Given the description of an element on the screen output the (x, y) to click on. 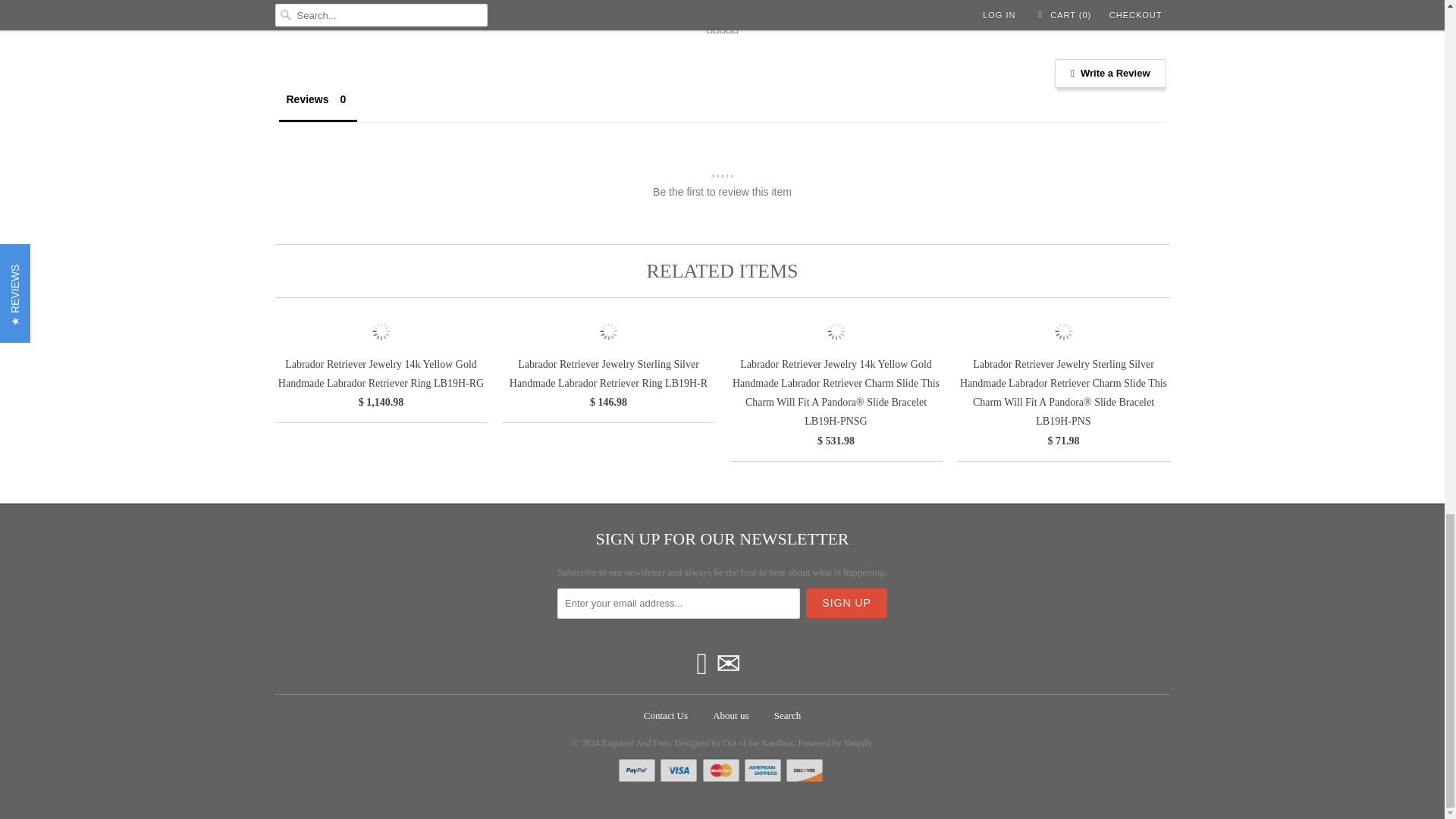
Email Esquivel And Fees (728, 664)
Sign Up (846, 603)
Mobilia Shopify Theme by Out of the Sandbox (734, 738)
